Given the description of an element on the screen output the (x, y) to click on. 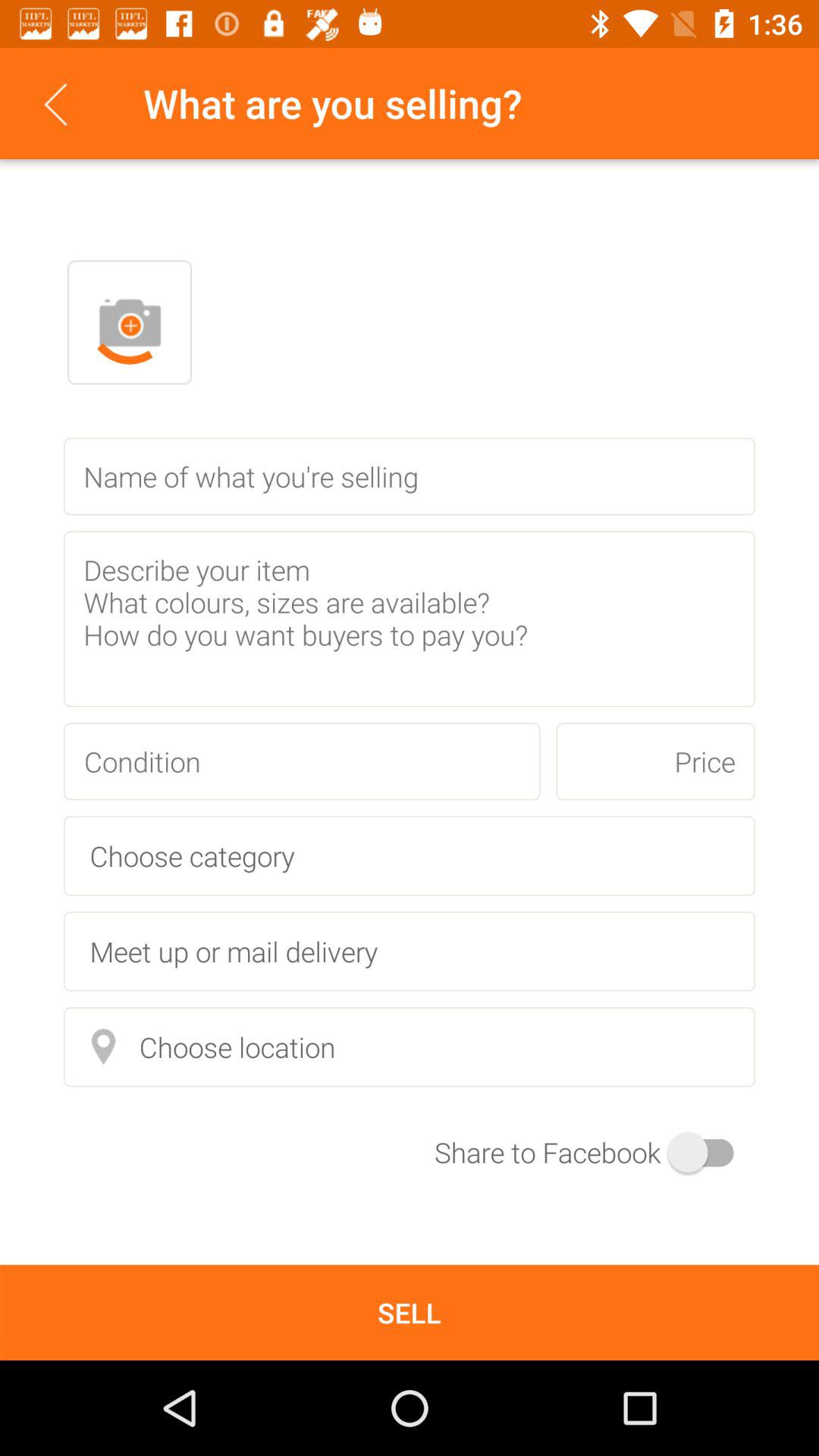
jump until the meet up or icon (409, 951)
